Given the description of an element on the screen output the (x, y) to click on. 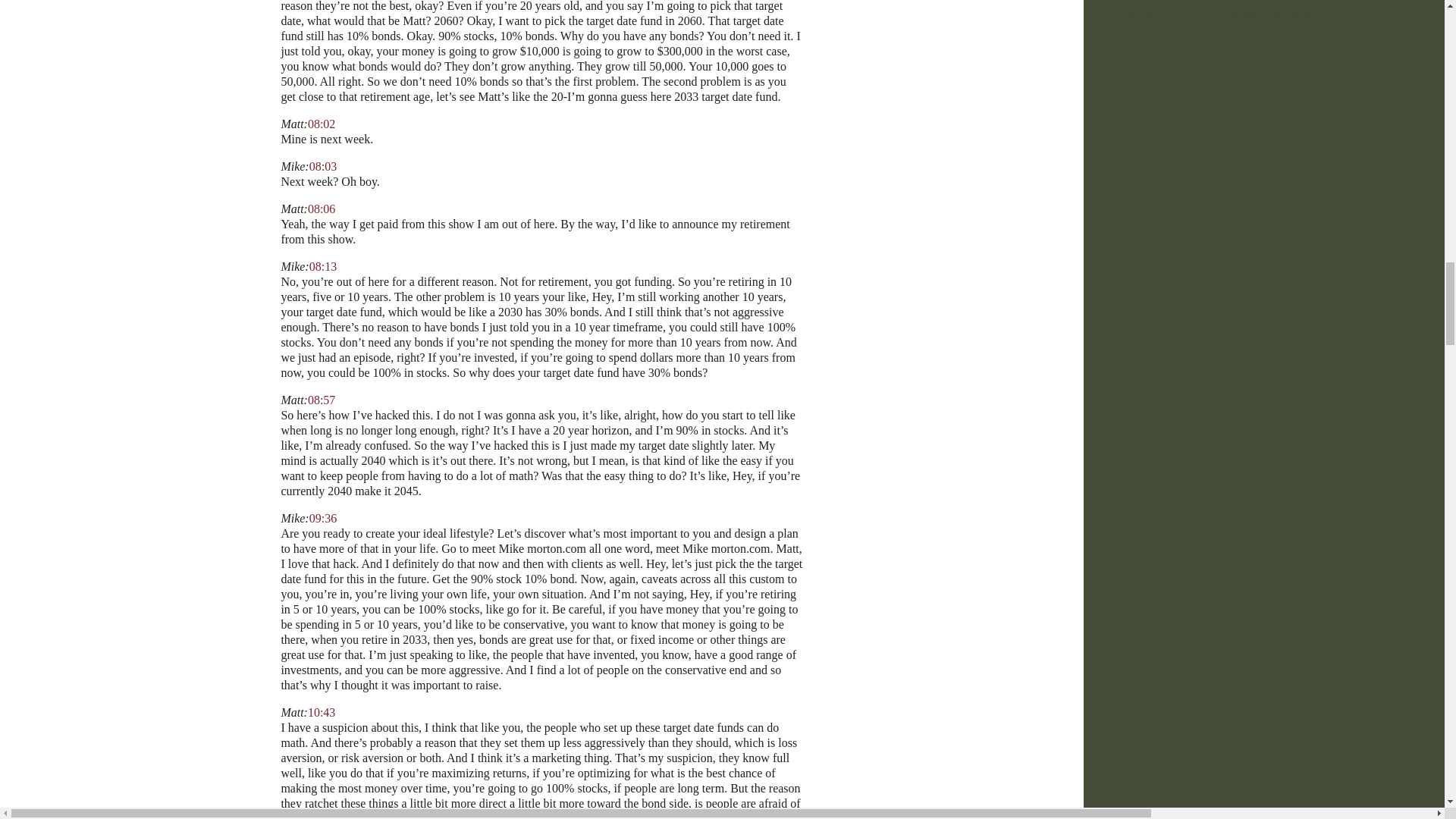
09:36 (322, 517)
08:13 (322, 266)
08:02 (320, 123)
08:03 (322, 165)
08:06 (320, 208)
10:43 (320, 712)
08:57 (320, 399)
